Given the description of an element on the screen output the (x, y) to click on. 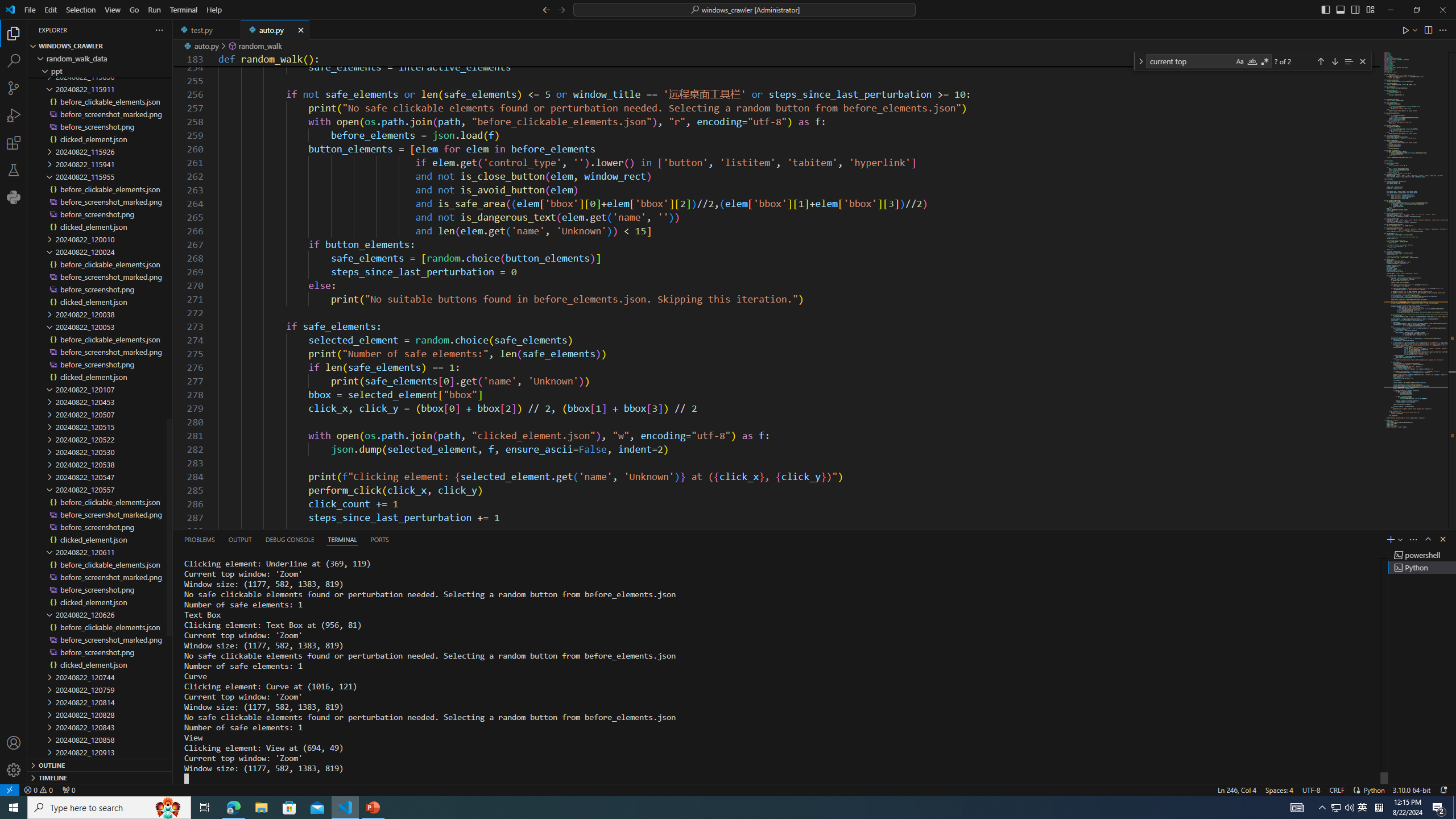
Explorer (Ctrl+Shift+E) (13, 33)
Go (134, 9)
Terminal (Ctrl+`) (342, 539)
Extensions (Ctrl+Shift+X) (13, 142)
Toggle Panel (Ctrl+J) (1339, 9)
Close (Ctrl+F4) (301, 29)
Python (1373, 789)
Spaces: 4 (1278, 789)
Source Control (Ctrl+Shift+G) (13, 87)
Debug Console (Ctrl+Shift+Y) (289, 539)
Go Forward (Alt+RightArrow) (560, 9)
Go Back (Alt+LeftArrow) (546, 9)
